Given the description of an element on the screen output the (x, y) to click on. 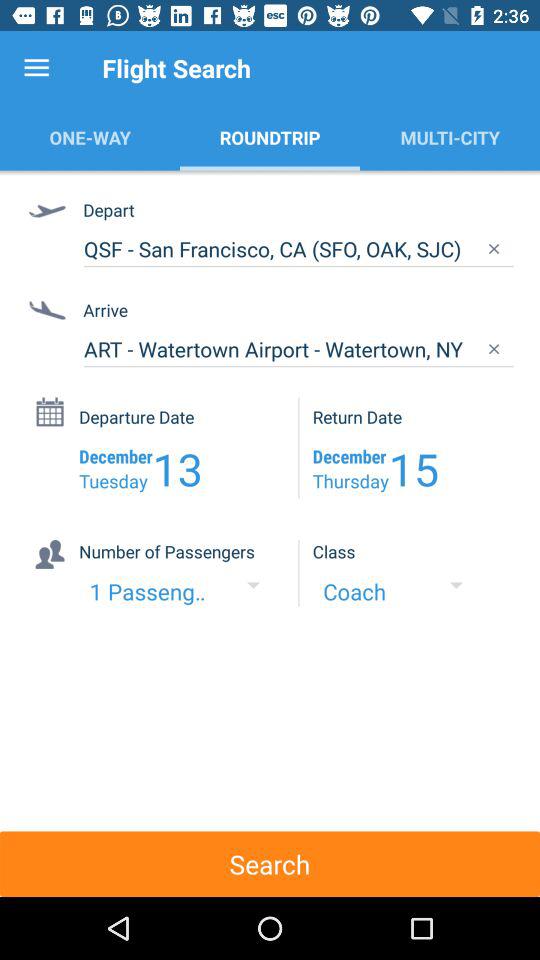
launch item below depart (298, 249)
